Given the description of an element on the screen output the (x, y) to click on. 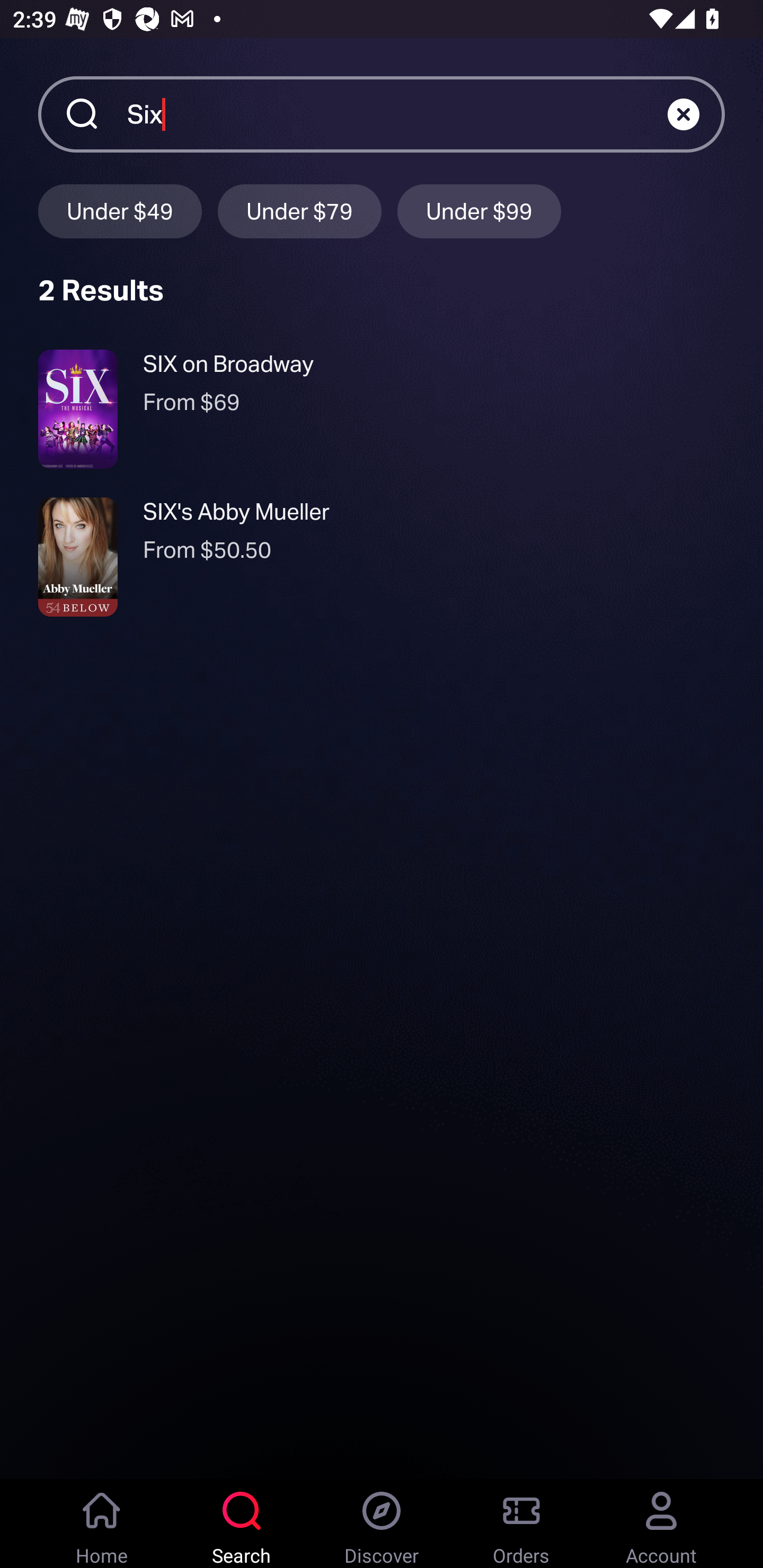
Six (397, 113)
Under $49 (120, 211)
Under $79 (299, 211)
Under $99 (478, 211)
SIX on Broadway $69  SIX on Broadway From $69 (381, 408)
Home (101, 1523)
Discover (381, 1523)
Orders (521, 1523)
Account (660, 1523)
